Given the description of an element on the screen output the (x, y) to click on. 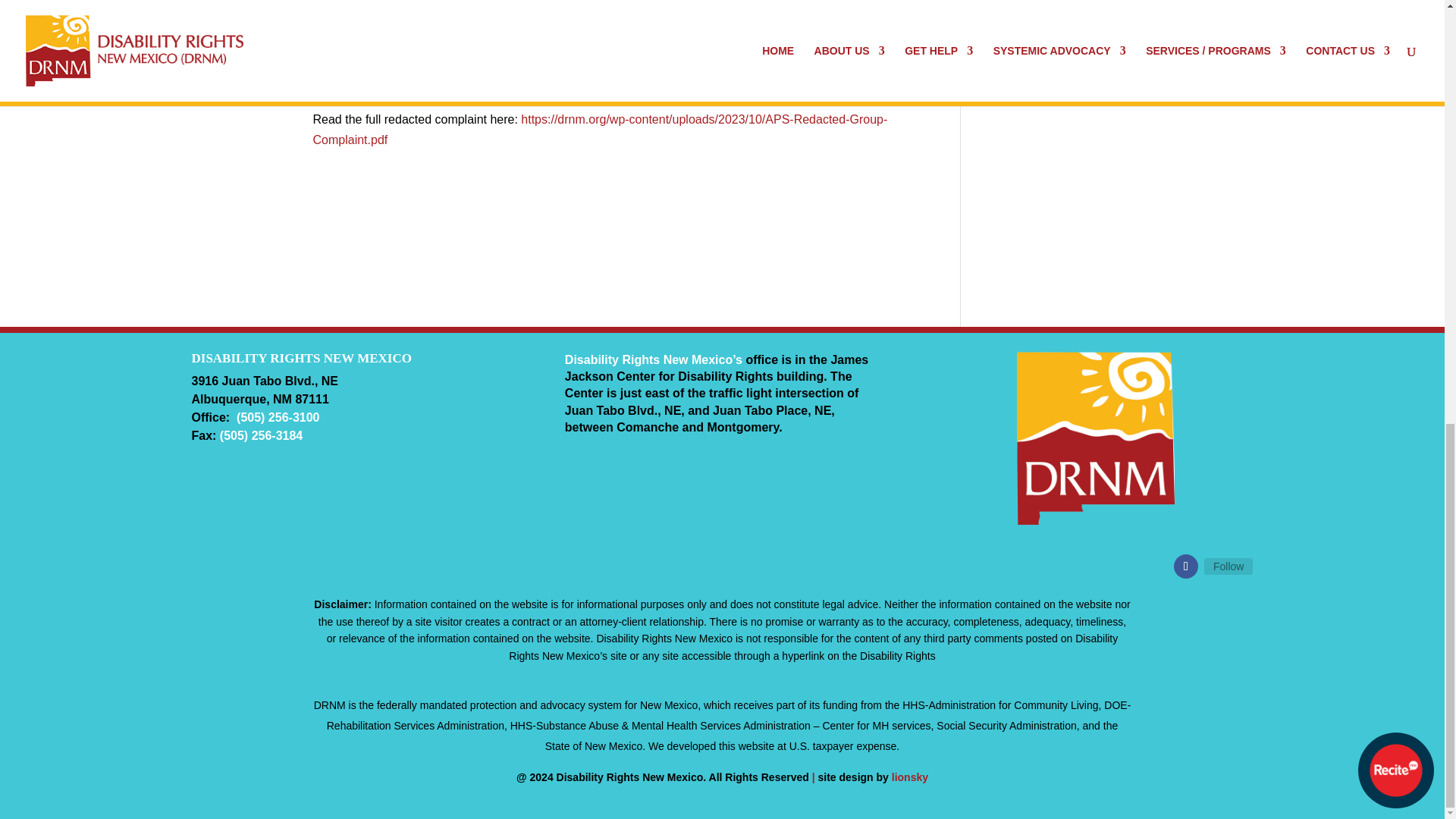
Follow on Facebook (1185, 566)
Facebook (1228, 565)
DRNM-Logo (1095, 438)
